Given the description of an element on the screen output the (x, y) to click on. 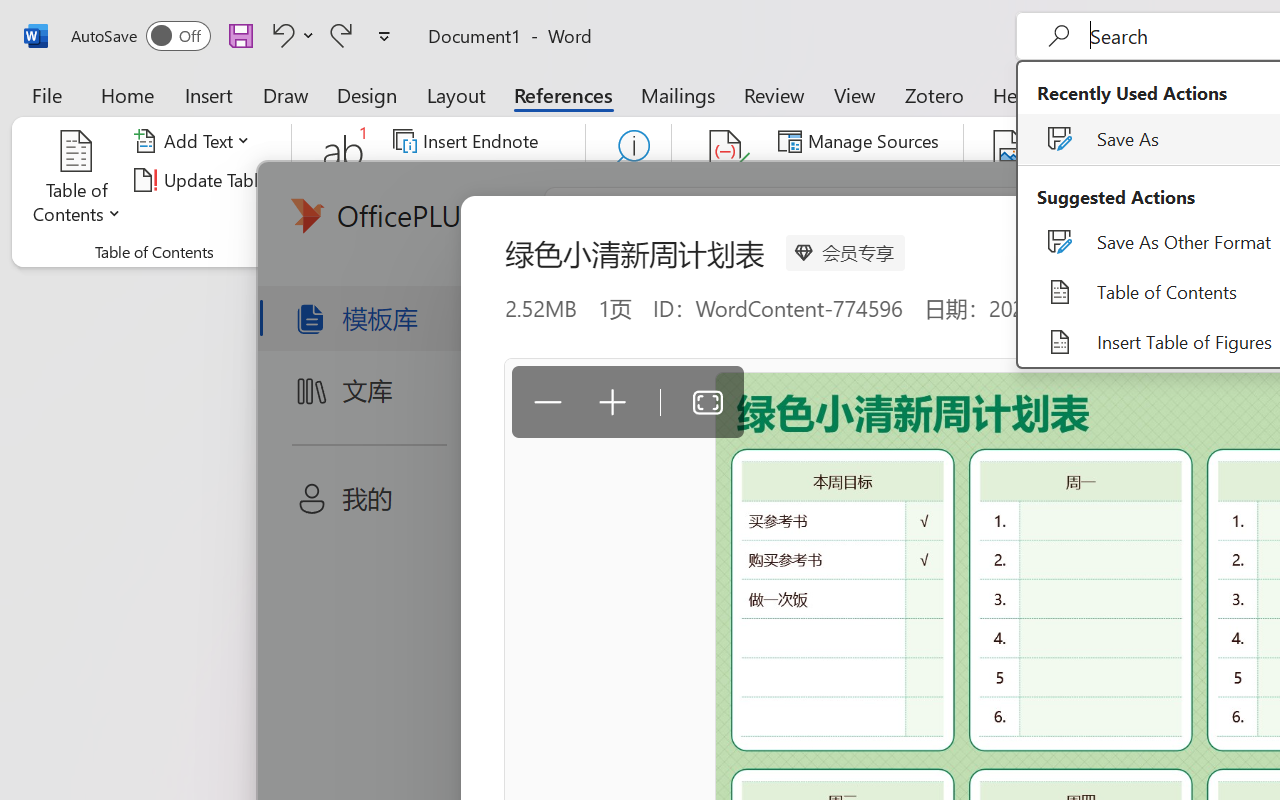
Undo Apply Quick Style Set (280, 35)
Insert Endnote (468, 141)
Add Text (195, 141)
Undo Apply Quick Style Set (290, 35)
Redo Apply Quick Style (341, 35)
Style (892, 179)
Show Notes (459, 218)
